Given the description of an element on the screen output the (x, y) to click on. 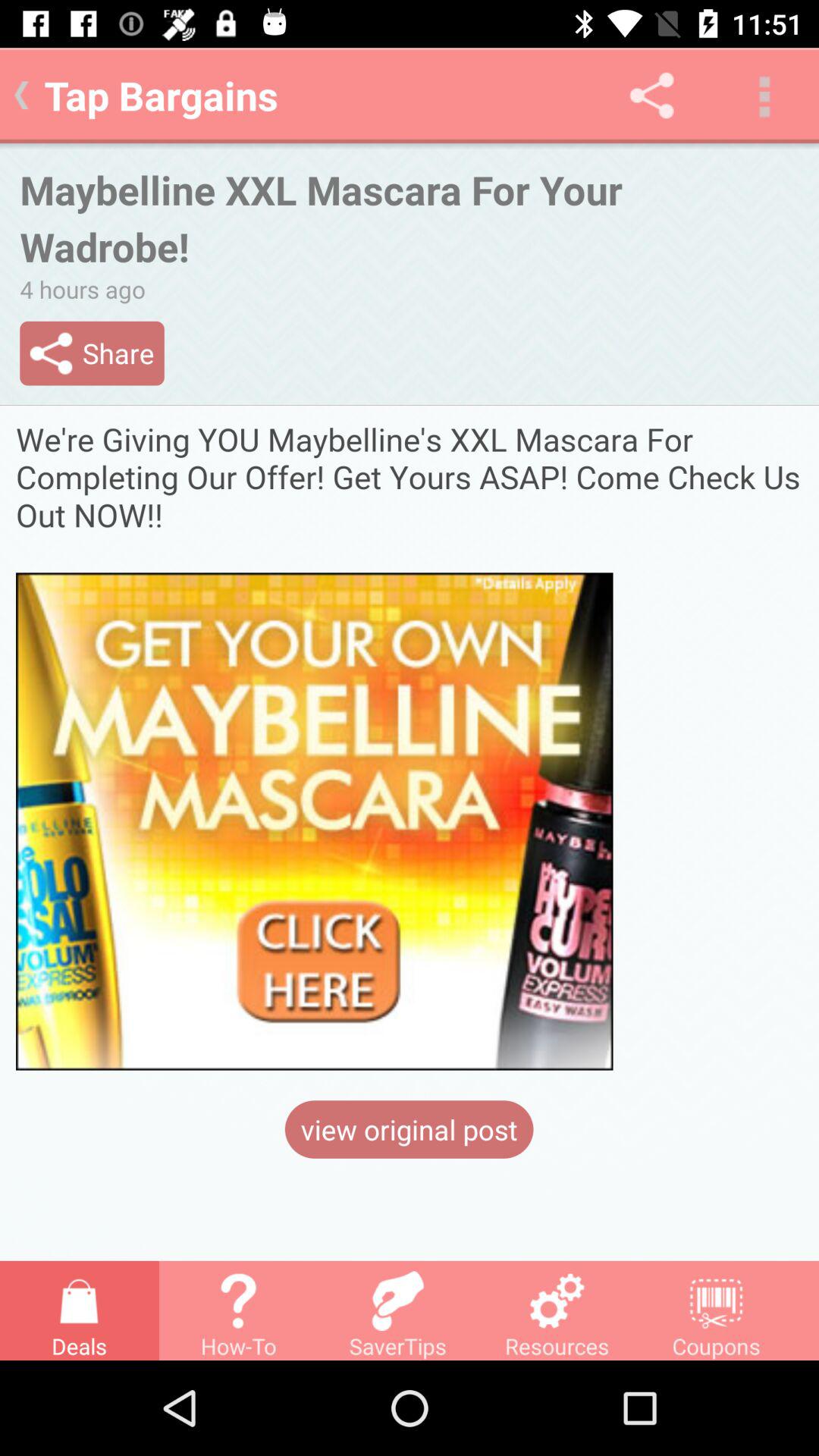
advert (409, 745)
